Given the description of an element on the screen output the (x, y) to click on. 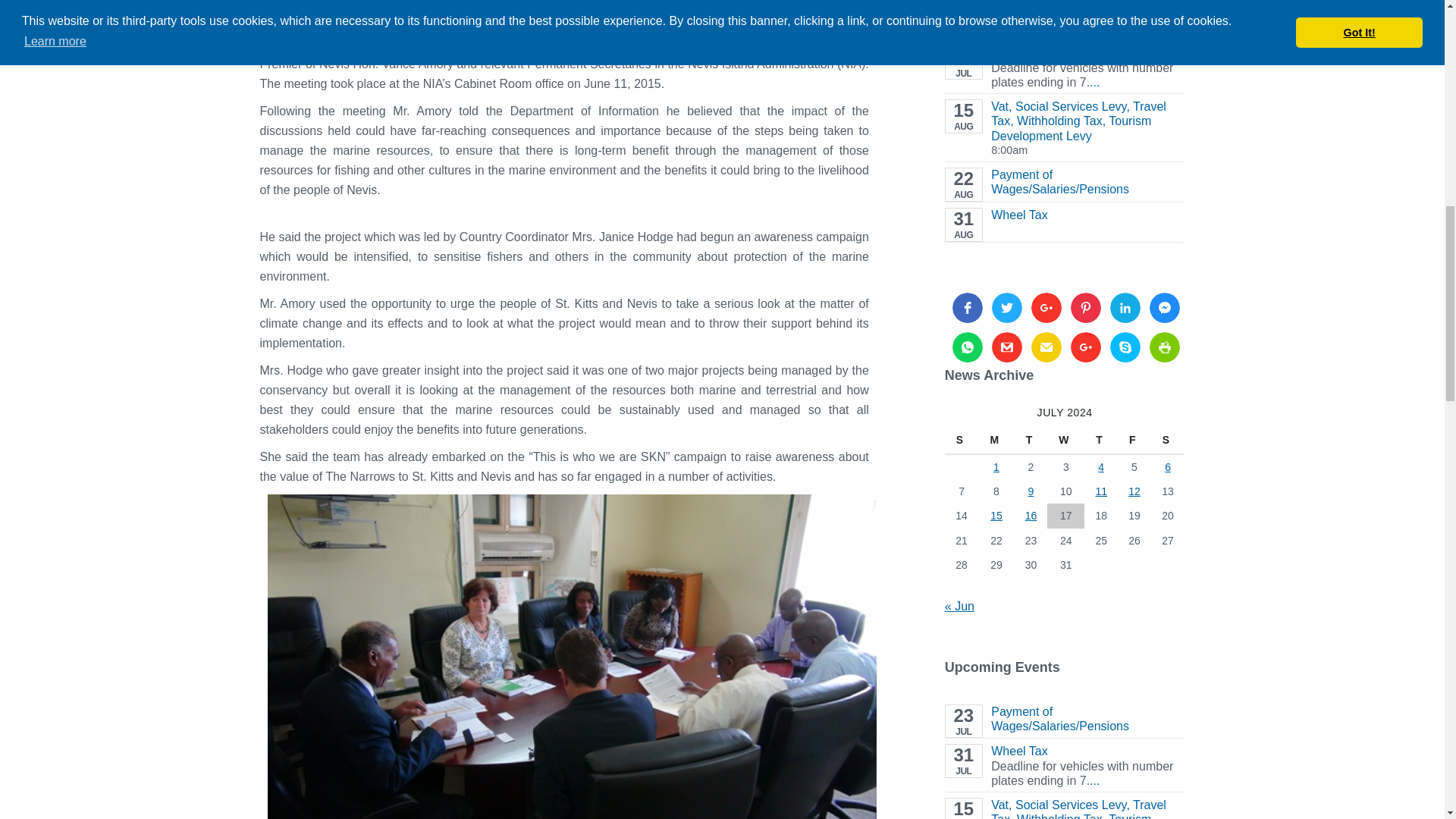
Monday (995, 439)
Tuesday (1031, 439)
Thursday (1101, 439)
Saturday (1168, 439)
Sunday (961, 439)
Friday (1134, 439)
Wednesday (1065, 439)
